Given the description of an element on the screen output the (x, y) to click on. 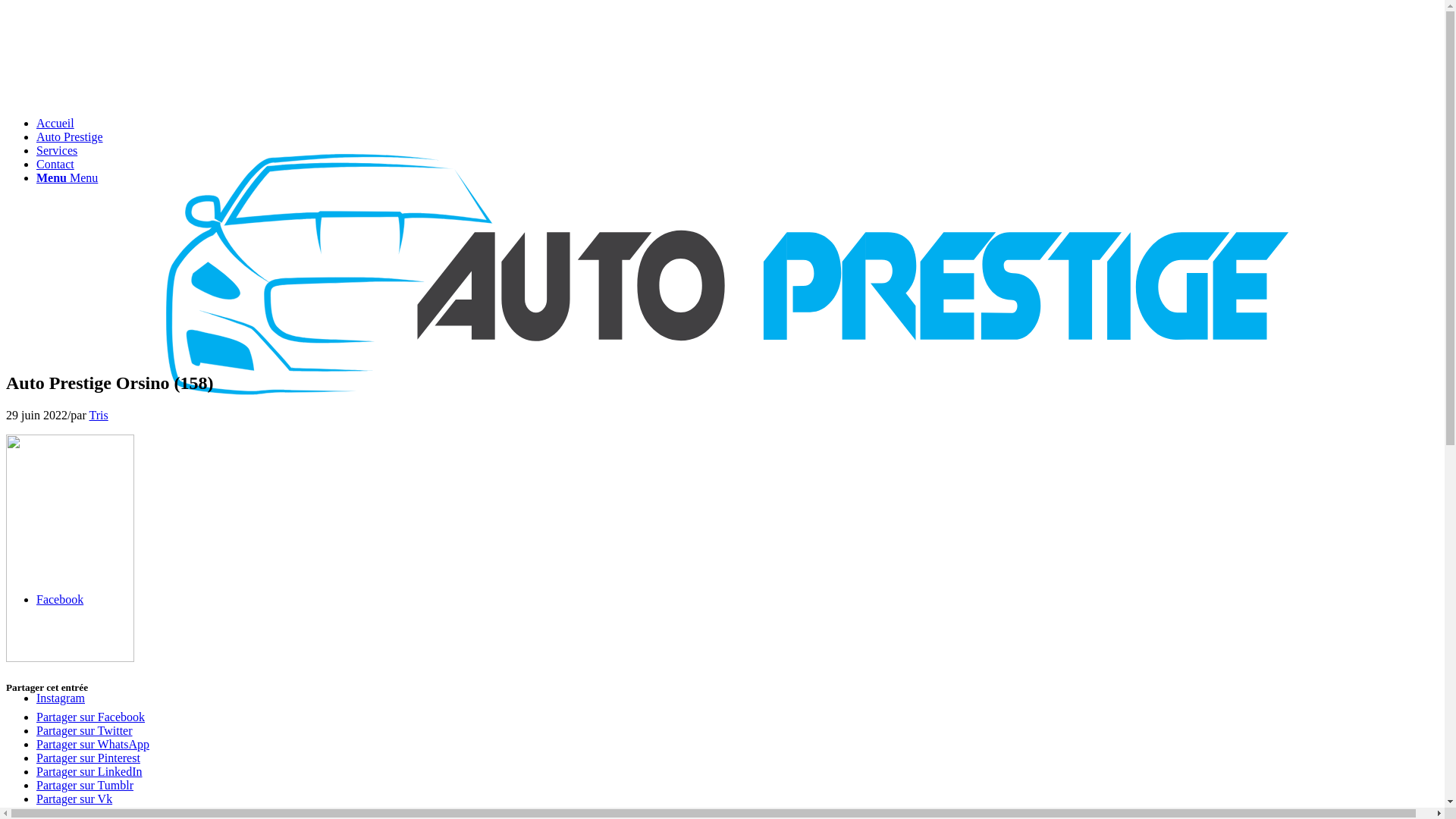
Partager sur Tumblr Element type: text (84, 784)
Partager sur Twitter Element type: text (84, 730)
Partager sur Pinterest Element type: text (88, 757)
Partager sur WhatsApp Element type: text (92, 743)
Partager sur Vk Element type: text (74, 798)
Facebook Element type: text (59, 599)
Tris Element type: text (97, 414)
Accueil Element type: text (55, 122)
Auto Prestige Element type: text (69, 136)
Partager sur LinkedIn Element type: text (89, 771)
Instagram Element type: text (60, 697)
Services Element type: text (56, 150)
Contact Element type: text (55, 163)
Menu Menu Element type: text (66, 177)
Partager sur Facebook Element type: text (90, 716)
